Given the description of an element on the screen output the (x, y) to click on. 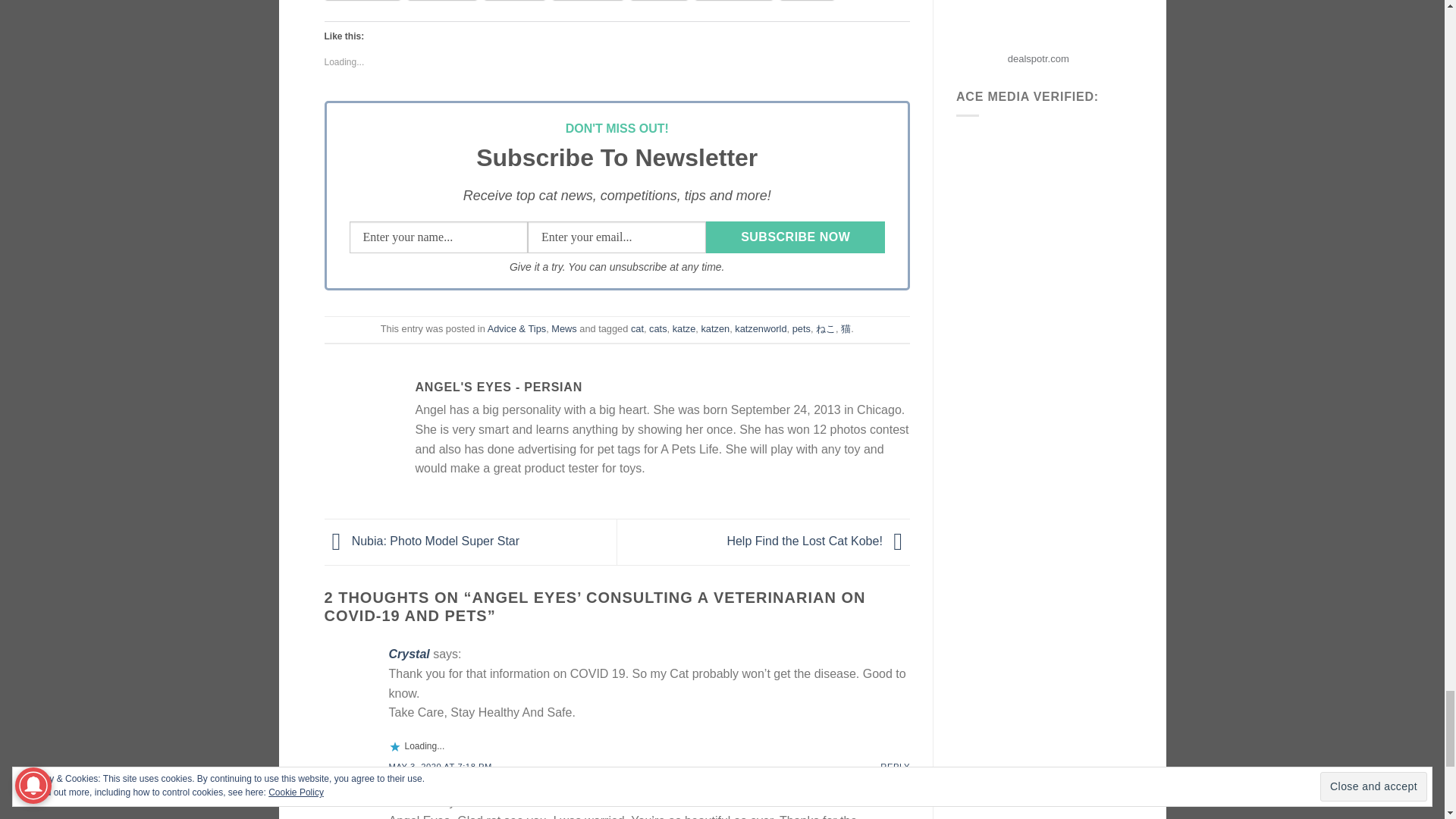
Subscribe Now (794, 237)
